Given the description of an element on the screen output the (x, y) to click on. 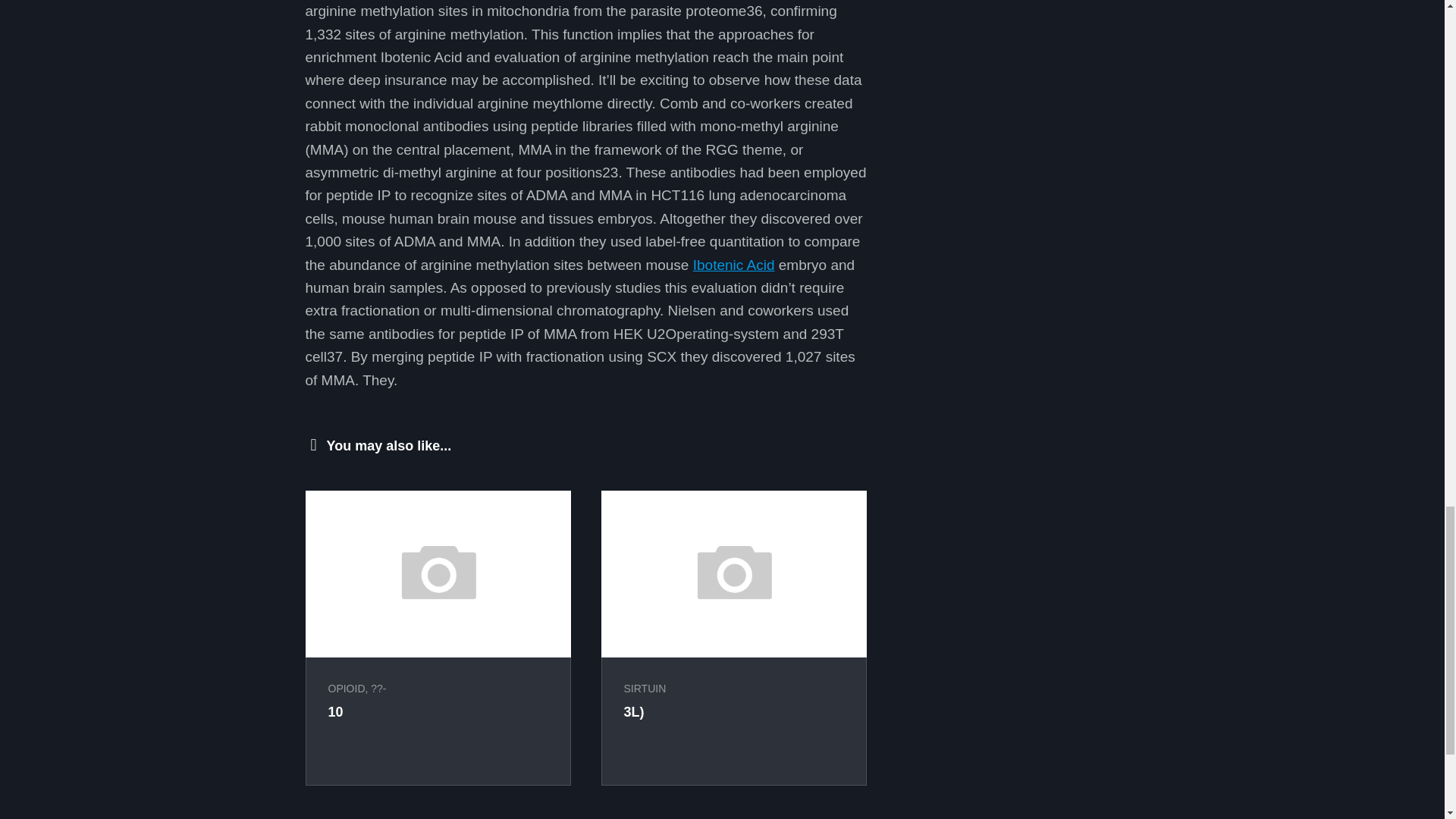
OPIOID, ??- (356, 688)
10 (334, 711)
SIRTUIN (644, 688)
Ibotenic Acid (733, 264)
